Given the description of an element on the screen output the (x, y) to click on. 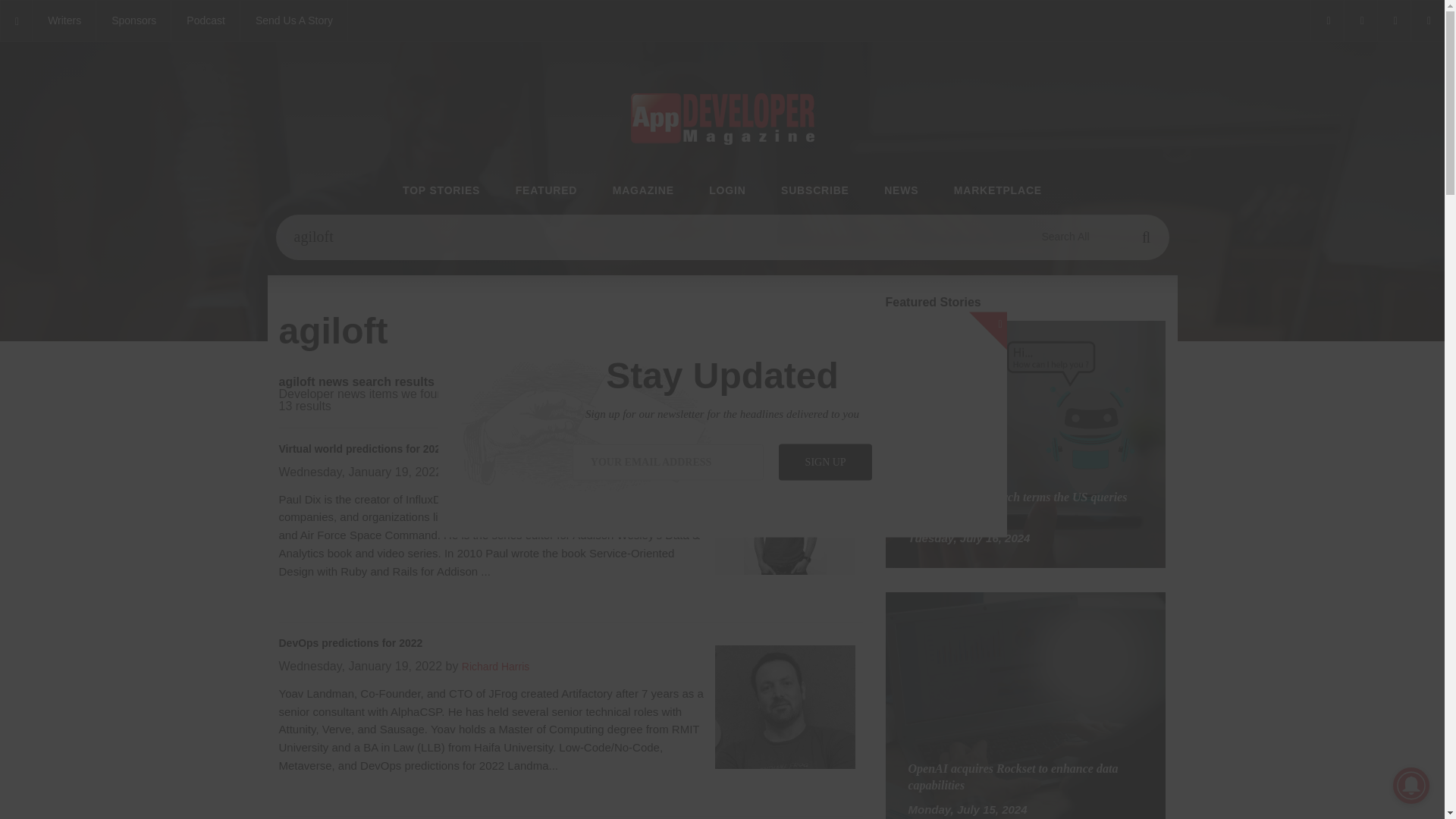
Our RSS (1427, 20)
SUBSCRIBE (814, 190)
MAGAZINE (643, 190)
Sponsors (133, 20)
App Developer Magazine Sponsors (133, 20)
App Developer Magazine (205, 20)
NEWS (900, 190)
Submit App News or Press Release (293, 20)
TOP STORIES (441, 190)
Our Instagram (1393, 20)
LOGIN (727, 190)
FEATURED (546, 190)
Send Us A Story (293, 20)
Writers (64, 20)
Podcast (205, 20)
